Given the description of an element on the screen output the (x, y) to click on. 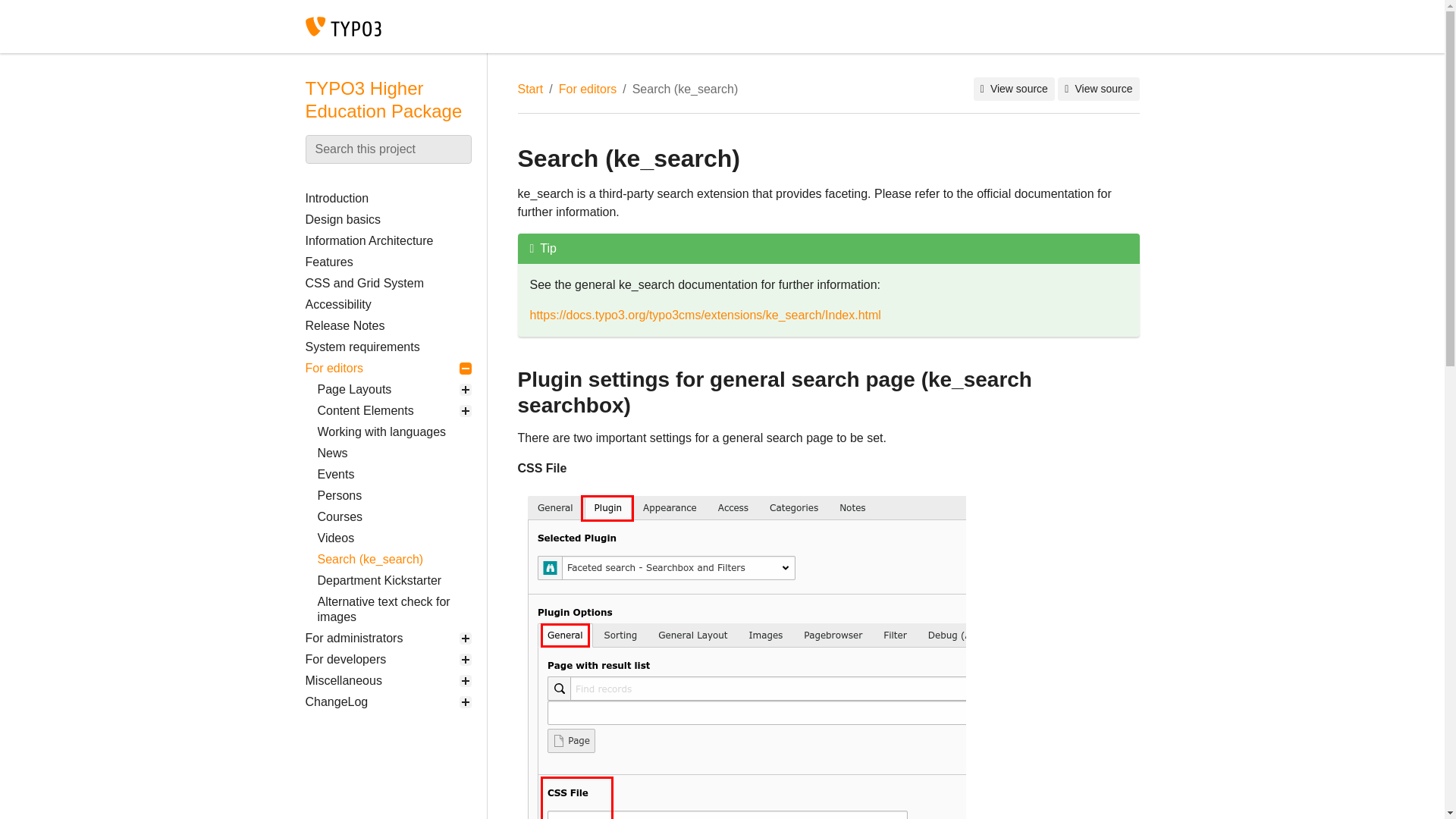
Accessibility (387, 304)
Introduction (387, 198)
Events (393, 474)
Videos (393, 537)
Information Architecture (387, 240)
Design basics (387, 219)
Content Elements (393, 410)
Department Kickstarter (393, 580)
Features (387, 261)
Persons (393, 495)
For administrators (387, 638)
CSS and Grid System (387, 283)
For editors (387, 368)
TYPO3 Documentation (721, 26)
System requirements (387, 346)
